Given the description of an element on the screen output the (x, y) to click on. 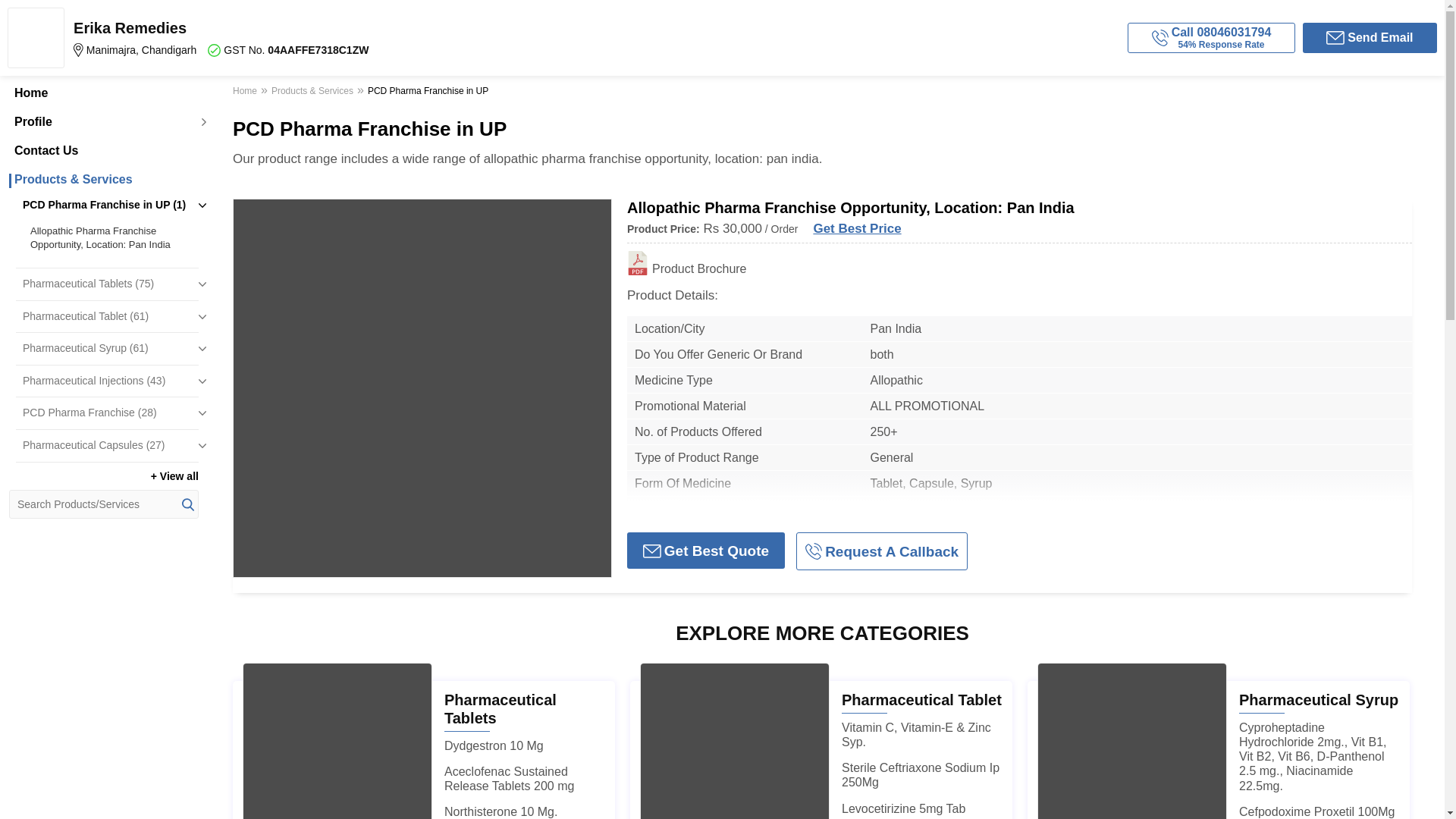
Allopathic Pharma Franchise Opportunity, Location: Pan India (285, 37)
Home (110, 237)
Contact Us (103, 92)
Profile (103, 150)
